Given the description of an element on the screen output the (x, y) to click on. 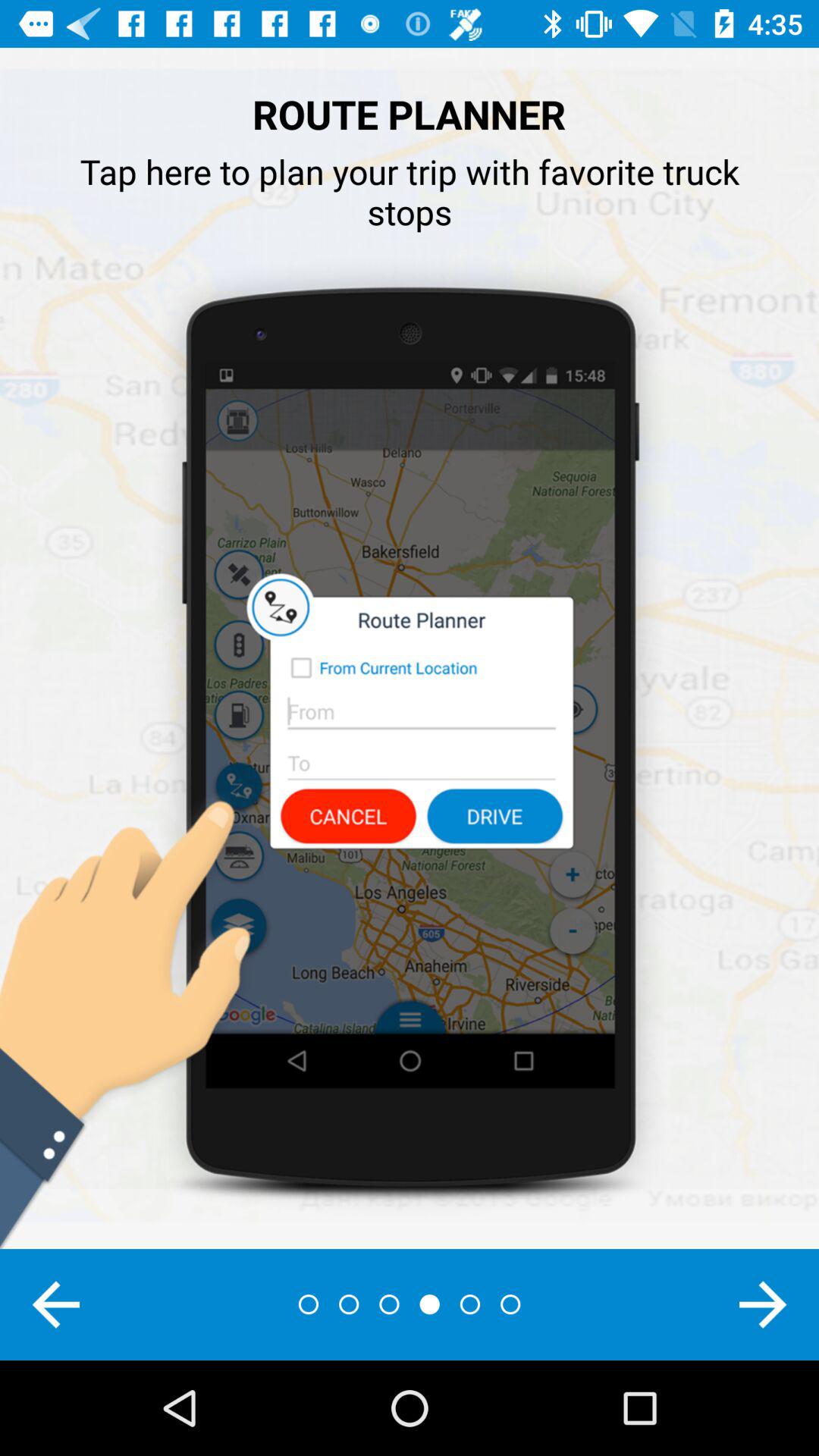
go to next (763, 1304)
